Given the description of an element on the screen output the (x, y) to click on. 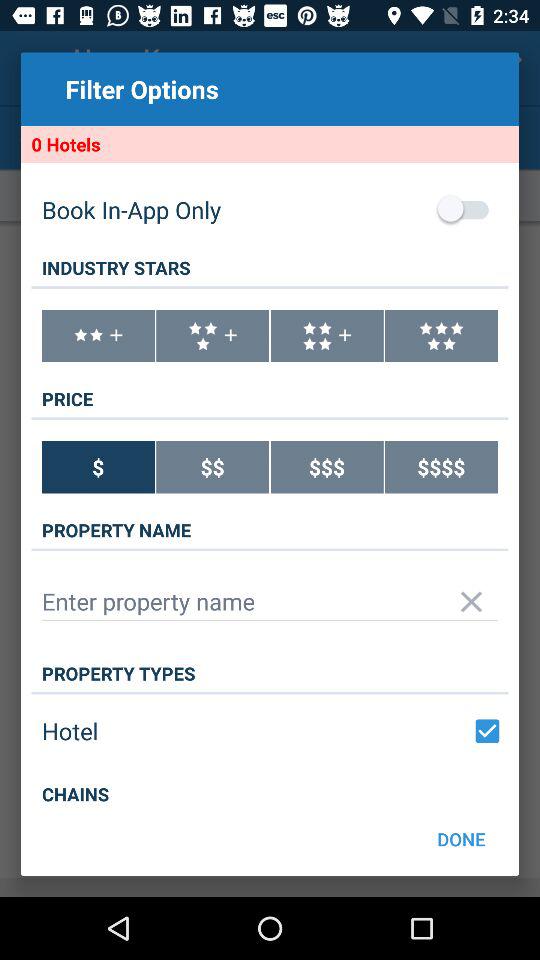
enter name (269, 601)
